Given the description of an element on the screen output the (x, y) to click on. 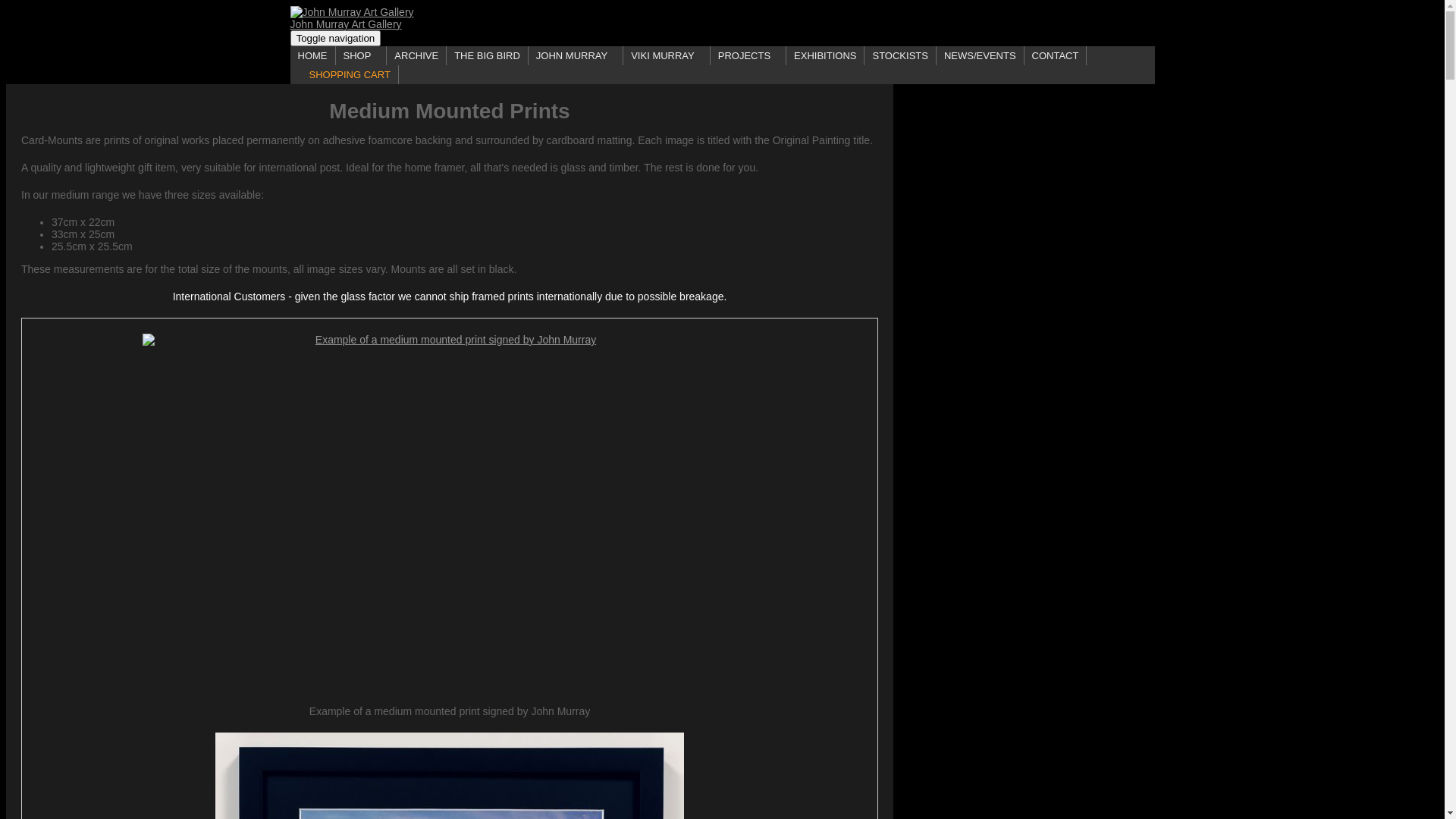
Toggle navigation Element type: text (334, 38)
EXHIBITIONS Element type: text (825, 55)
SHOPPING CART Element type: text (343, 74)
THE BIG BIRD Element type: text (487, 55)
SHOP Element type: text (360, 55)
John Murray Art Gallery Element type: text (345, 24)
Skip to main content Element type: text (6, 6)
VIKI MURRAY Element type: text (666, 55)
ARCHIVE Element type: text (416, 55)
John Murray Art Gallery Element type: hover (721, 12)
HOME Element type: text (312, 55)
STOCKISTS Element type: text (899, 55)
JOHN MURRAY Element type: text (575, 55)
CONTACT Element type: text (1055, 55)
NEWS/EVENTS Element type: text (980, 55)
PROJECTS Element type: text (748, 55)
